Given the description of an element on the screen output the (x, y) to click on. 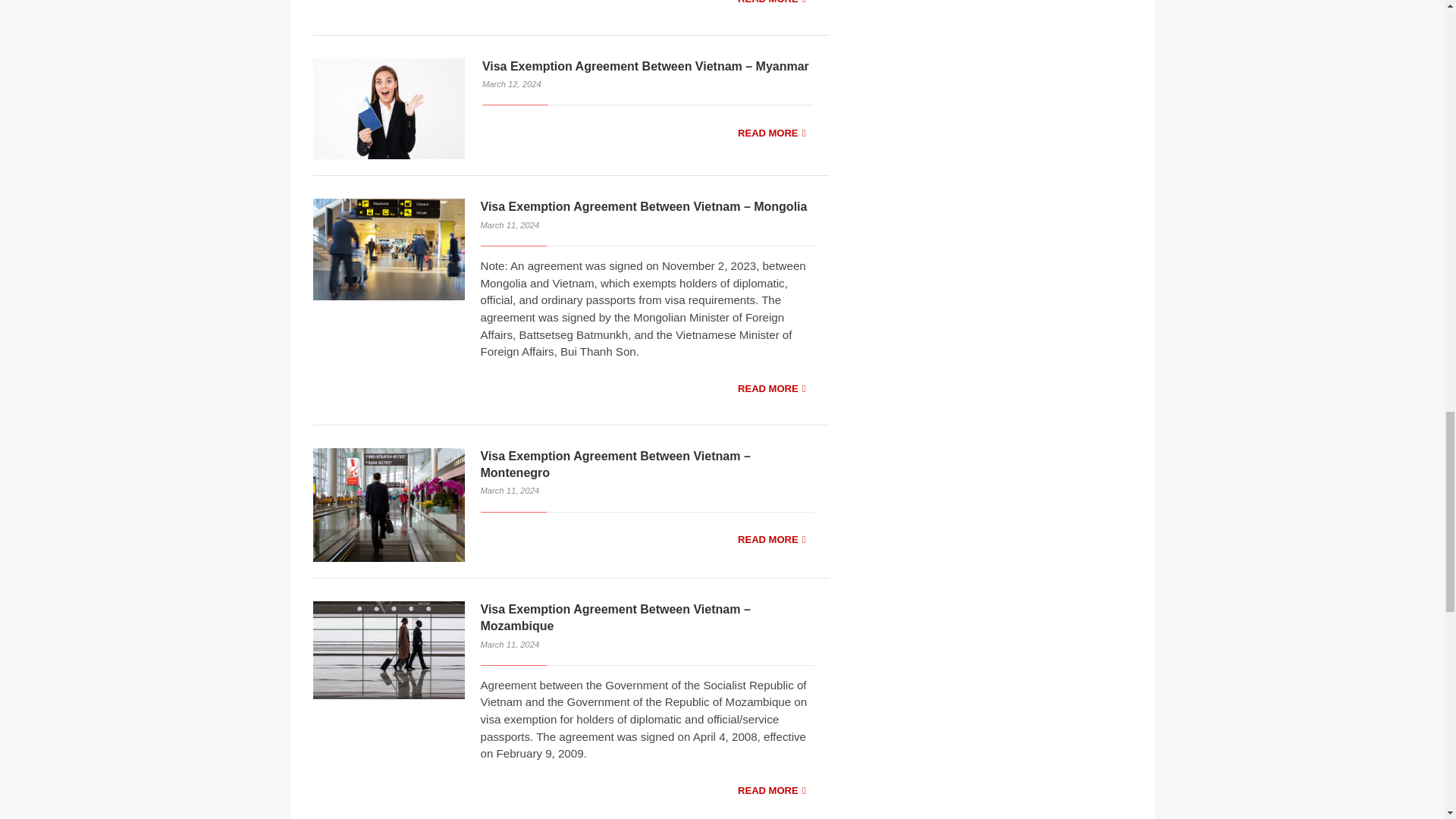
READ MORE (771, 540)
READ MORE (771, 133)
READ MORE (771, 791)
READ MORE (771, 388)
READ MORE (771, 6)
